Given the description of an element on the screen output the (x, y) to click on. 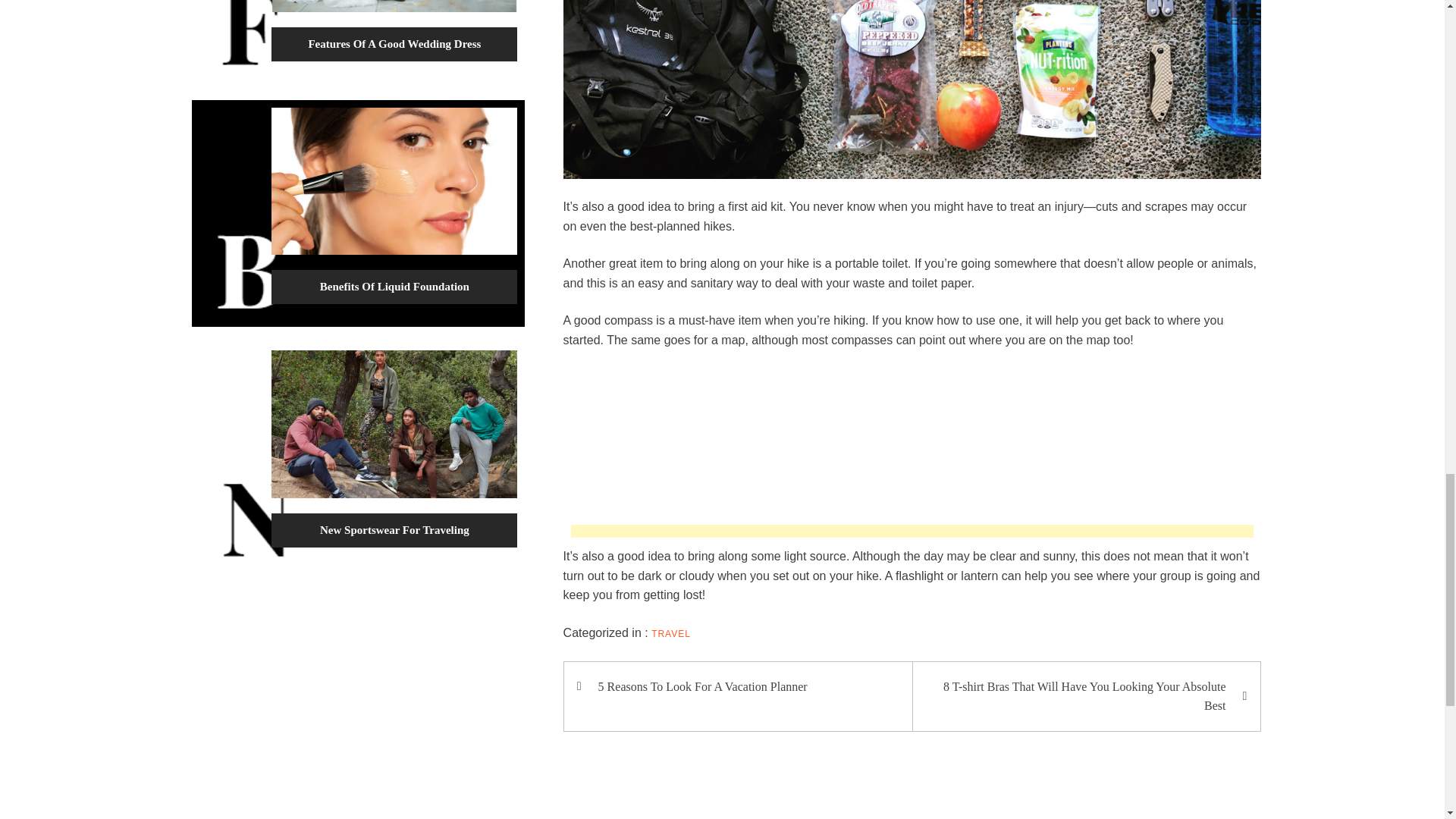
8 T-shirt Bras That Will Have You Looking Your Absolute Best (1078, 696)
TRAVEL (670, 633)
Features Of A Good Wedding Dress (393, 43)
Benefits Of Liquid Foundation (394, 286)
New Sportswear For Traveling (394, 530)
5 Reasons To Look For A Vacation Planner (745, 686)
